Given the description of an element on the screen output the (x, y) to click on. 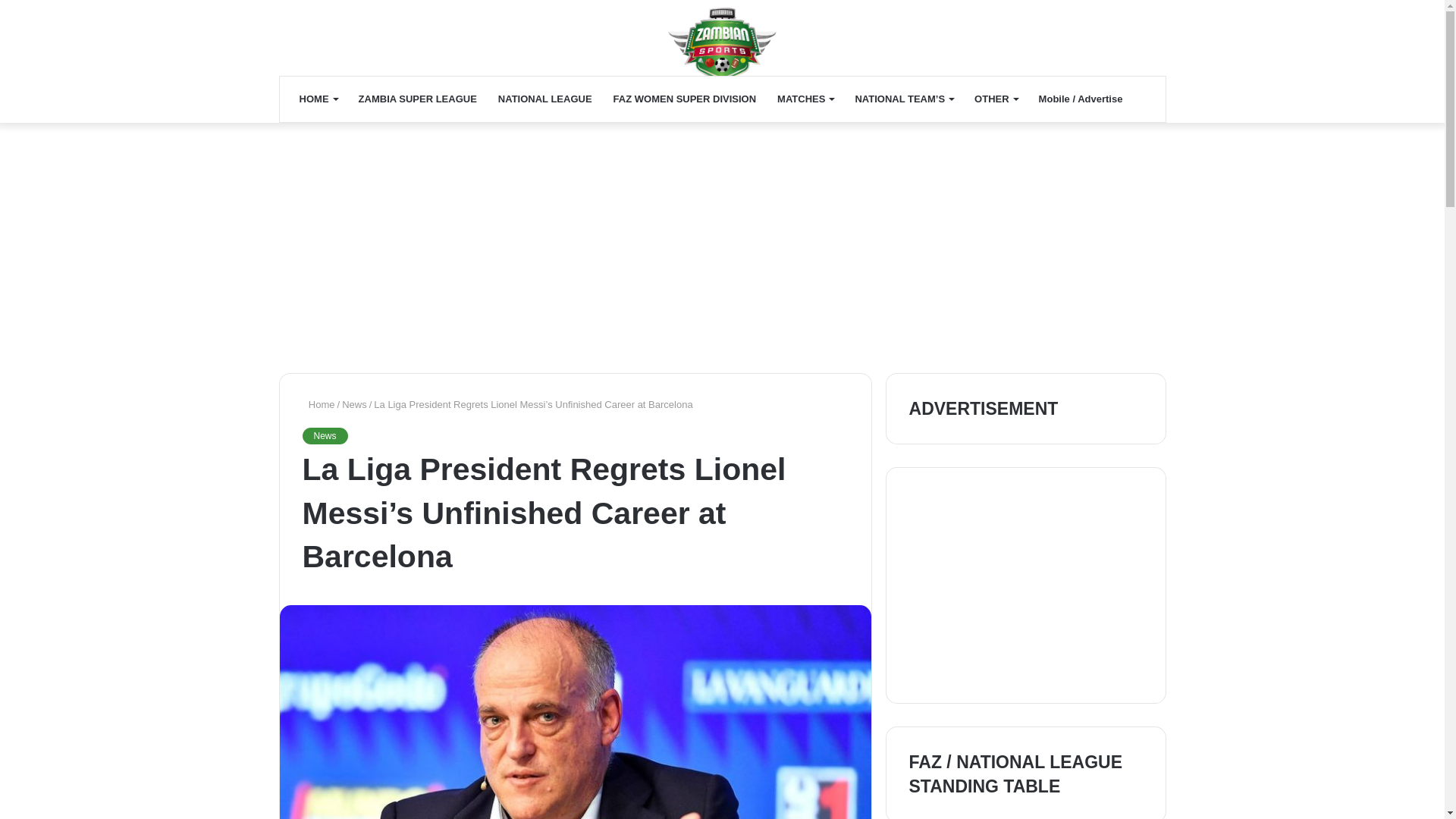
News (354, 404)
Home (317, 404)
HOME (317, 99)
ZAMBIA SUPER LEAGUE (417, 99)
News (324, 435)
MATCHES (805, 99)
NATIONAL LEAGUE (544, 99)
FAZ WOMEN SUPER DIVISION (684, 99)
OTHER (995, 99)
Zambian Sports (722, 45)
